Given the description of an element on the screen output the (x, y) to click on. 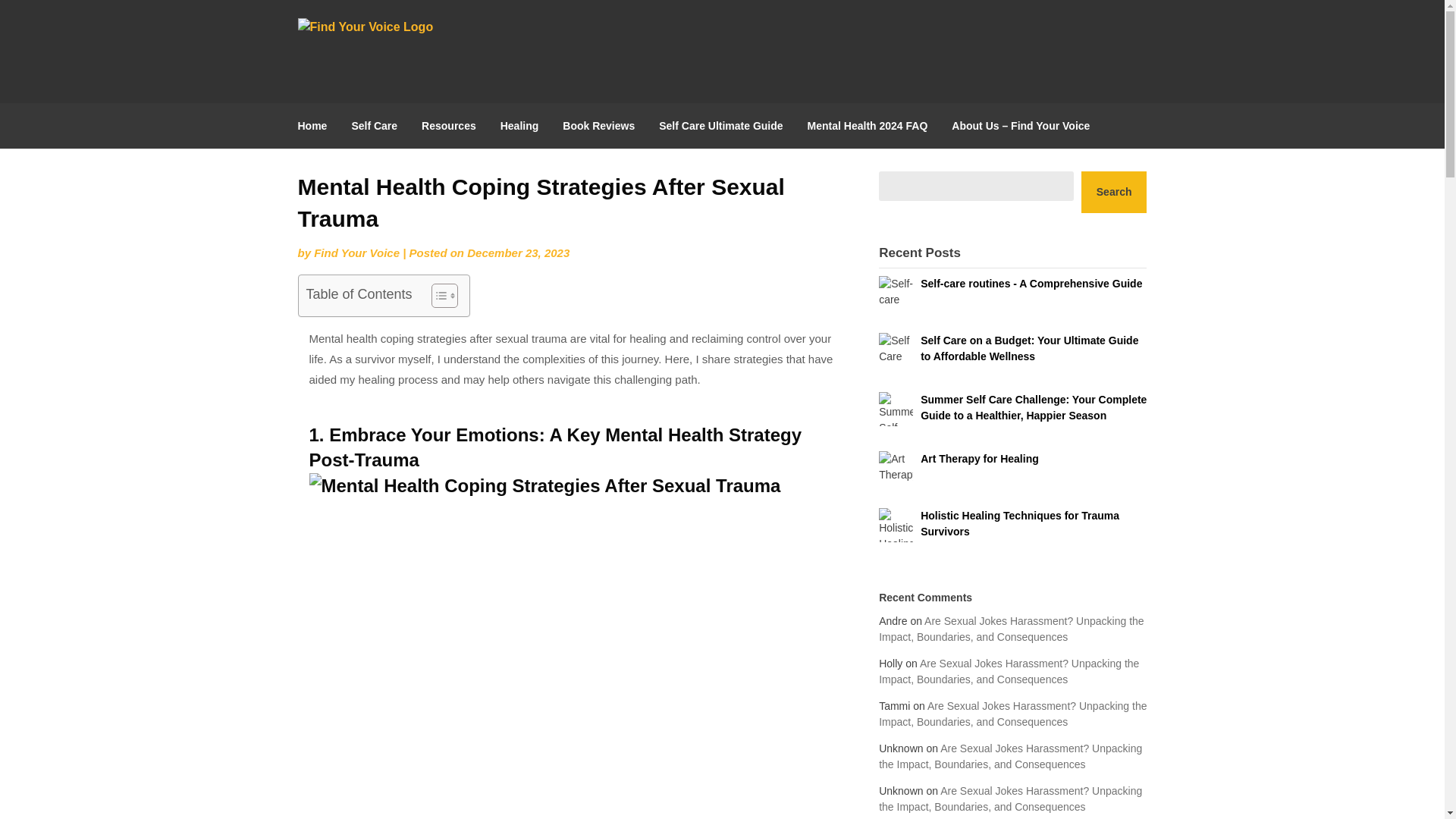
Find Your Voice (356, 252)
Home (318, 125)
Self-care routines - A Comprehensive Guide (1030, 283)
Search (1114, 191)
Resources (448, 125)
Mental Health 2024 FAQ (867, 125)
Self Care (374, 125)
Healing (519, 125)
Book Reviews (598, 125)
Self Care Ultimate Guide (720, 125)
December 23, 2023 (518, 252)
